Given the description of an element on the screen output the (x, y) to click on. 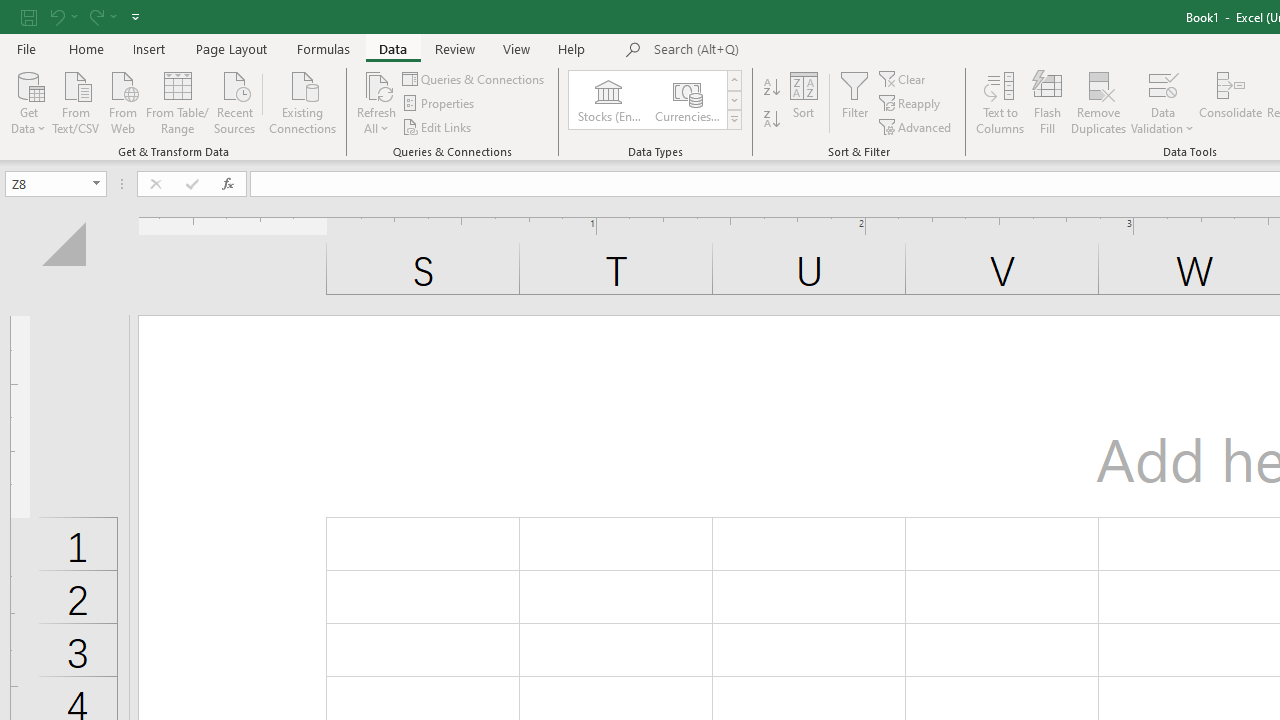
Consolidate... (1230, 102)
